Given the description of an element on the screen output the (x, y) to click on. 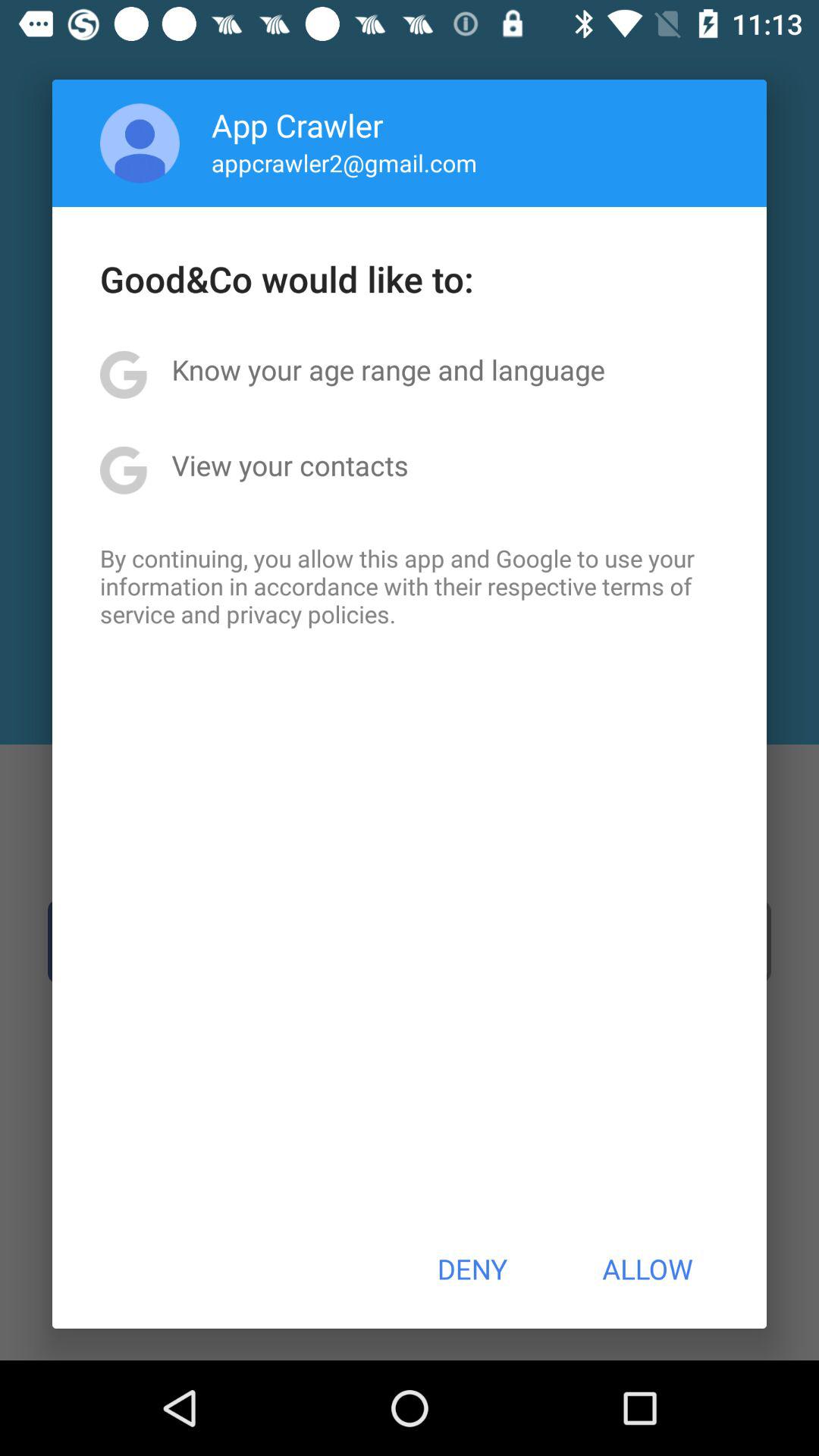
launch the item below by continuing you (471, 1268)
